Given the description of an element on the screen output the (x, y) to click on. 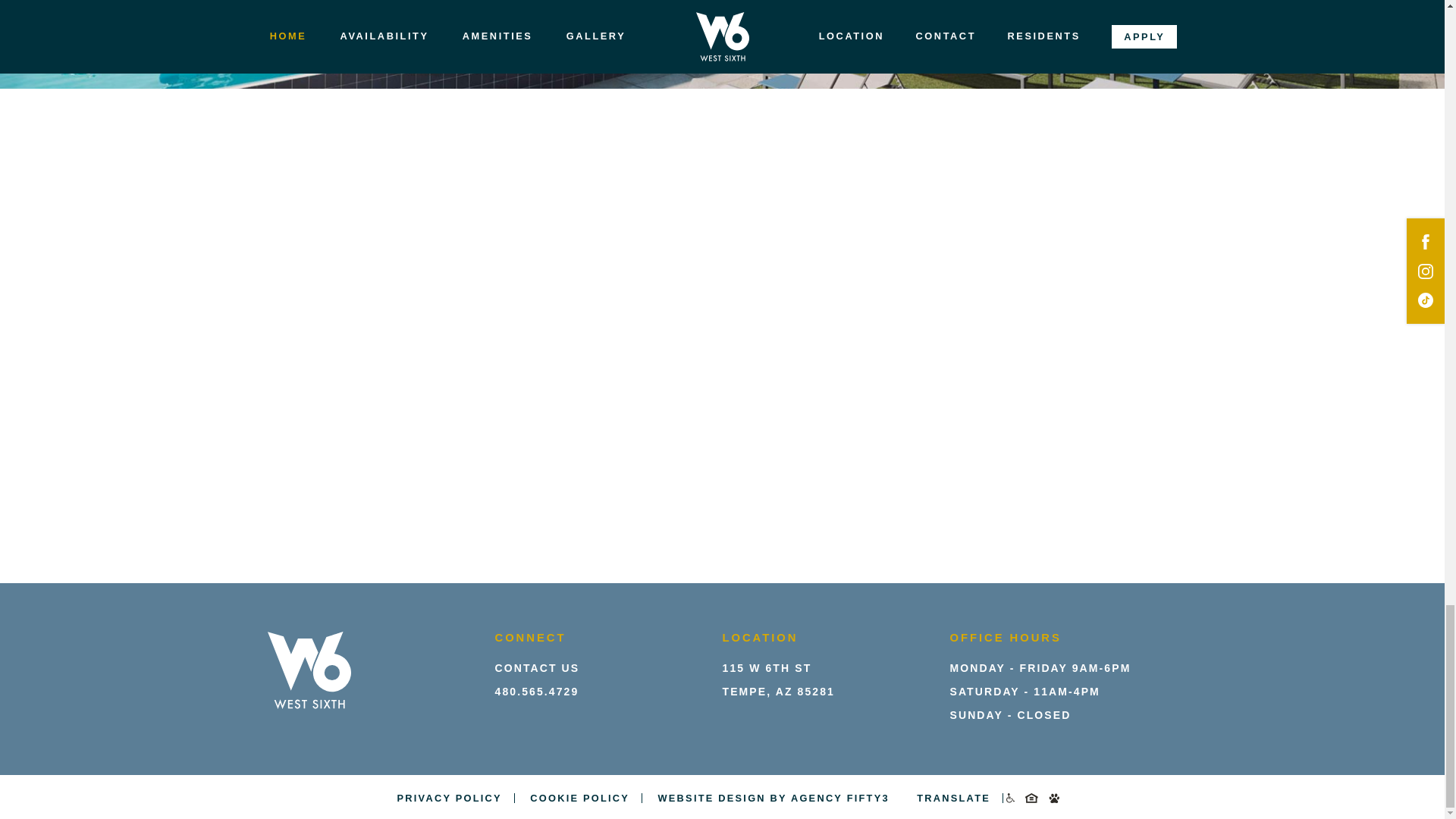
480.565.4729 (536, 691)
WEBSITE DESIGN BY AGENCY FIFTY3 (773, 797)
CONTACT US (778, 679)
TRANSLATE (537, 667)
PRIVACY POLICY (953, 797)
COOKIE POLICY (449, 797)
